Given the description of an element on the screen output the (x, y) to click on. 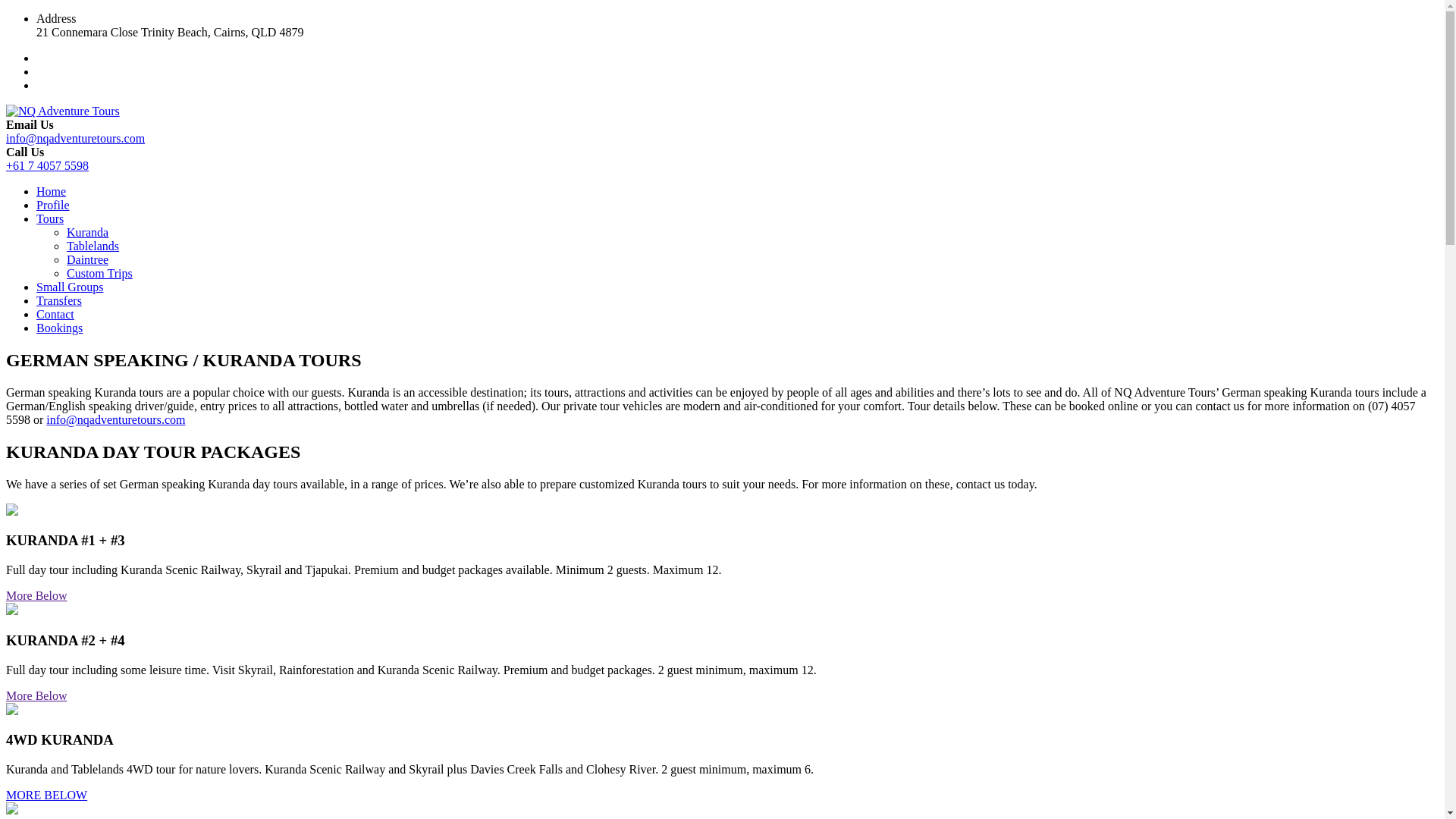
Transfers Element type: text (58, 300)
info@nqadventuretours.com Element type: text (75, 137)
Custom Trips Element type: text (99, 272)
Profile Element type: text (52, 204)
Home Element type: text (50, 191)
Tours Element type: text (49, 218)
Contact Element type: text (55, 313)
Bookings Element type: text (59, 327)
More Below Element type: text (36, 595)
+61 7 4057 5598 Element type: text (47, 165)
More Below Element type: text (36, 694)
Small Groups Element type: text (69, 286)
Kuranda Element type: text (87, 231)
Daintree Element type: text (87, 259)
Tablelands Element type: text (92, 245)
MORE BELOW Element type: text (46, 794)
info@nqadventuretours.com Element type: text (115, 419)
